Given the description of an element on the screen output the (x, y) to click on. 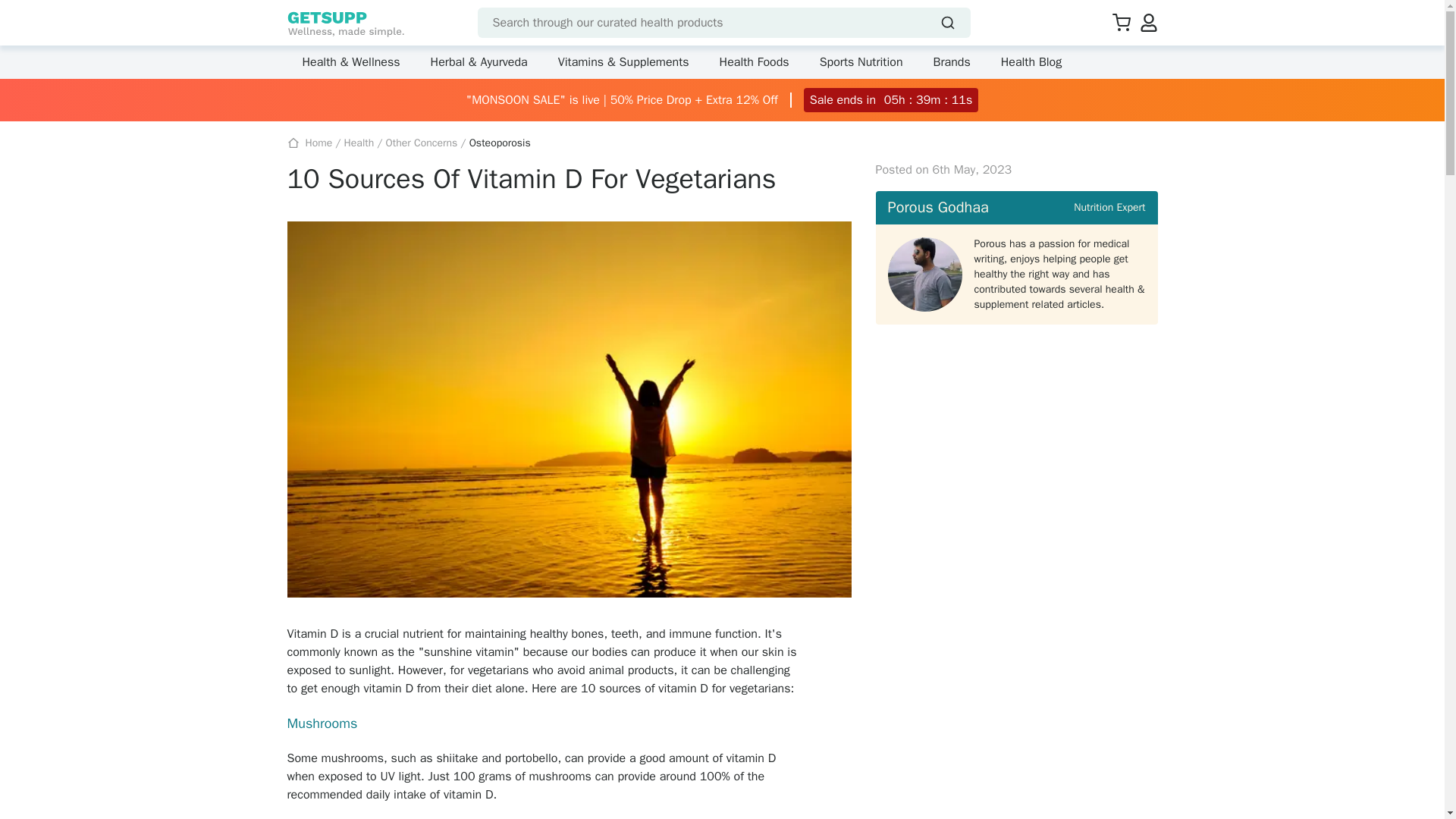
Search through our curated health products (724, 22)
